Given the description of an element on the screen output the (x, y) to click on. 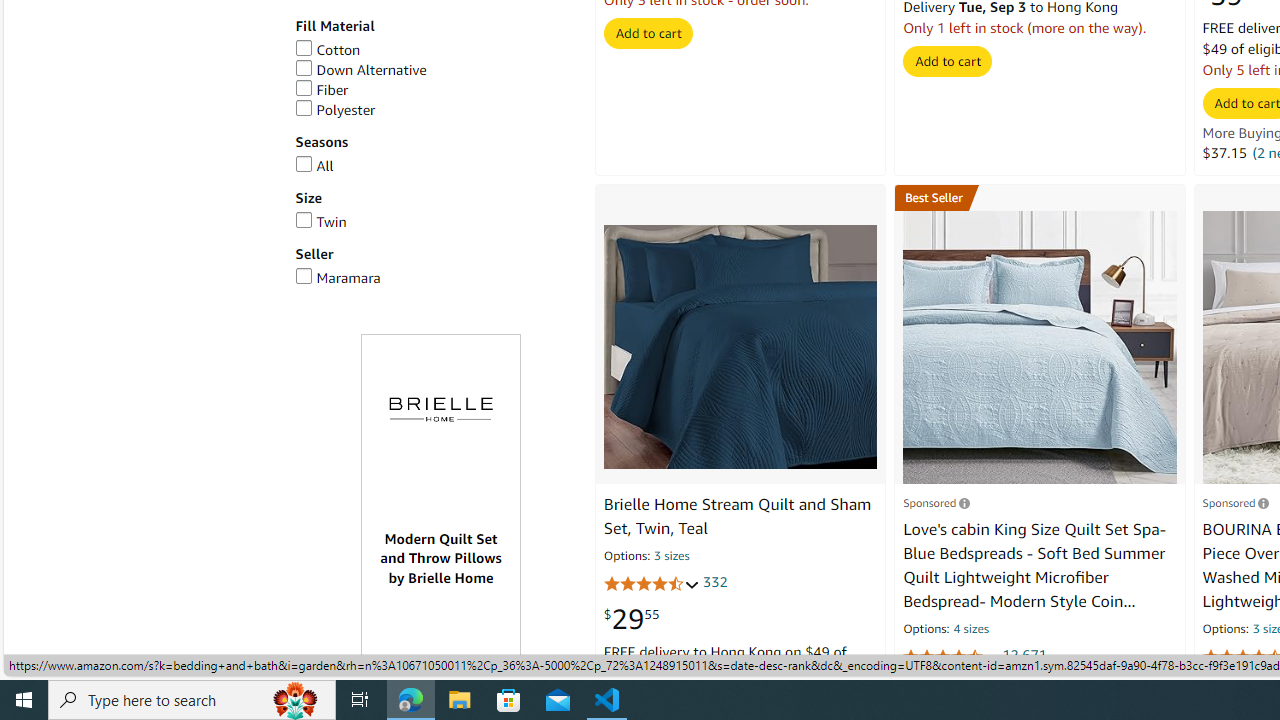
Logo (441, 409)
Fiber (321, 89)
View Sponsored information or leave ad feedback (1235, 502)
Twin (320, 221)
332 (715, 581)
Fiber (434, 90)
All (314, 165)
4 sizes (970, 629)
Polyester (434, 110)
Go back to filtering menu (84, 666)
Polyester (335, 110)
4.5 out of 5 stars (950, 655)
12,671 (1024, 655)
